Given the description of an element on the screen output the (x, y) to click on. 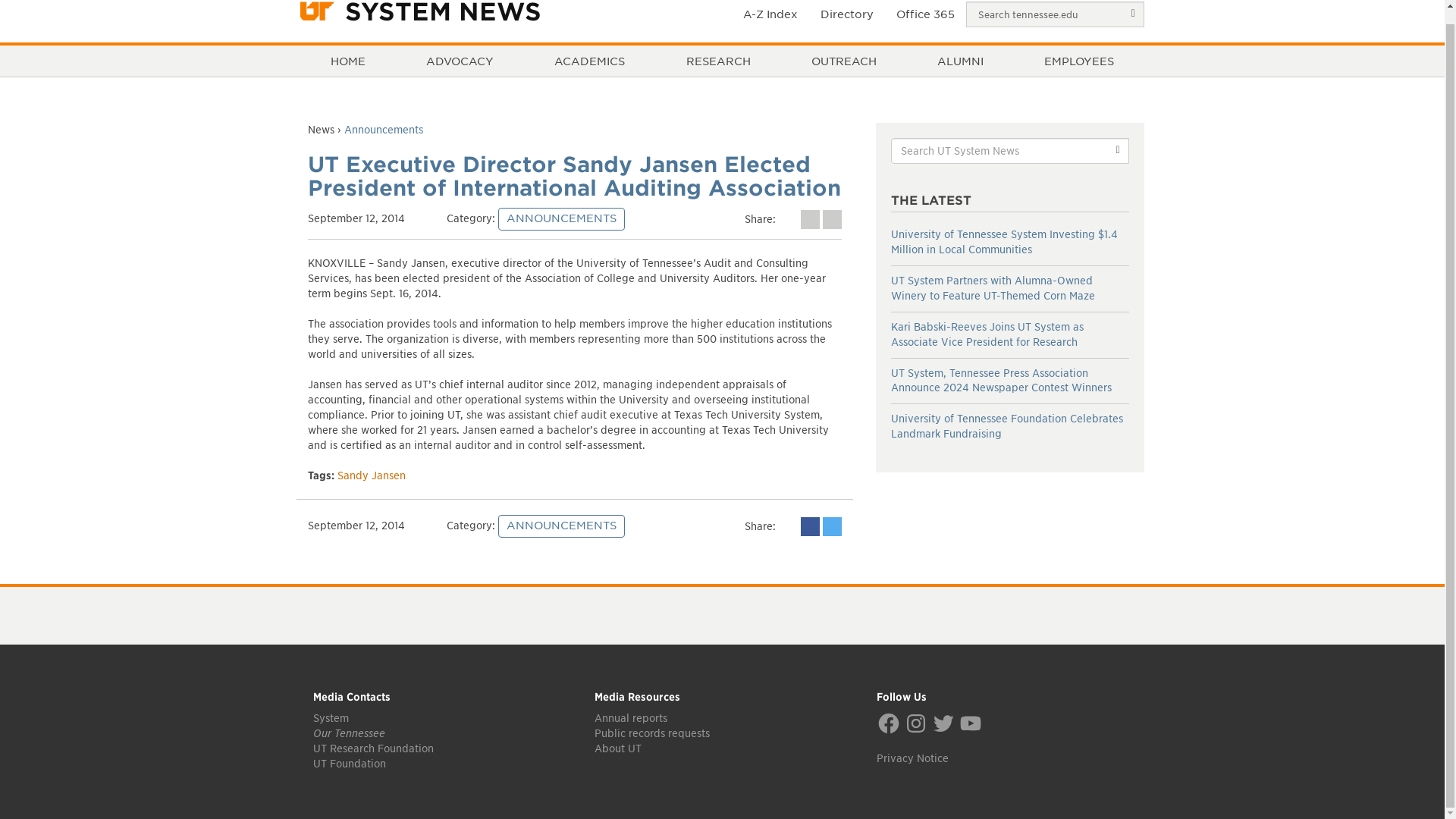
Directory (847, 16)
UT Foundation (349, 763)
Employees (1078, 60)
Home (347, 60)
ANNOUNCEMENTS (560, 526)
About UT (618, 748)
Facebook (888, 723)
